Given the description of an element on the screen output the (x, y) to click on. 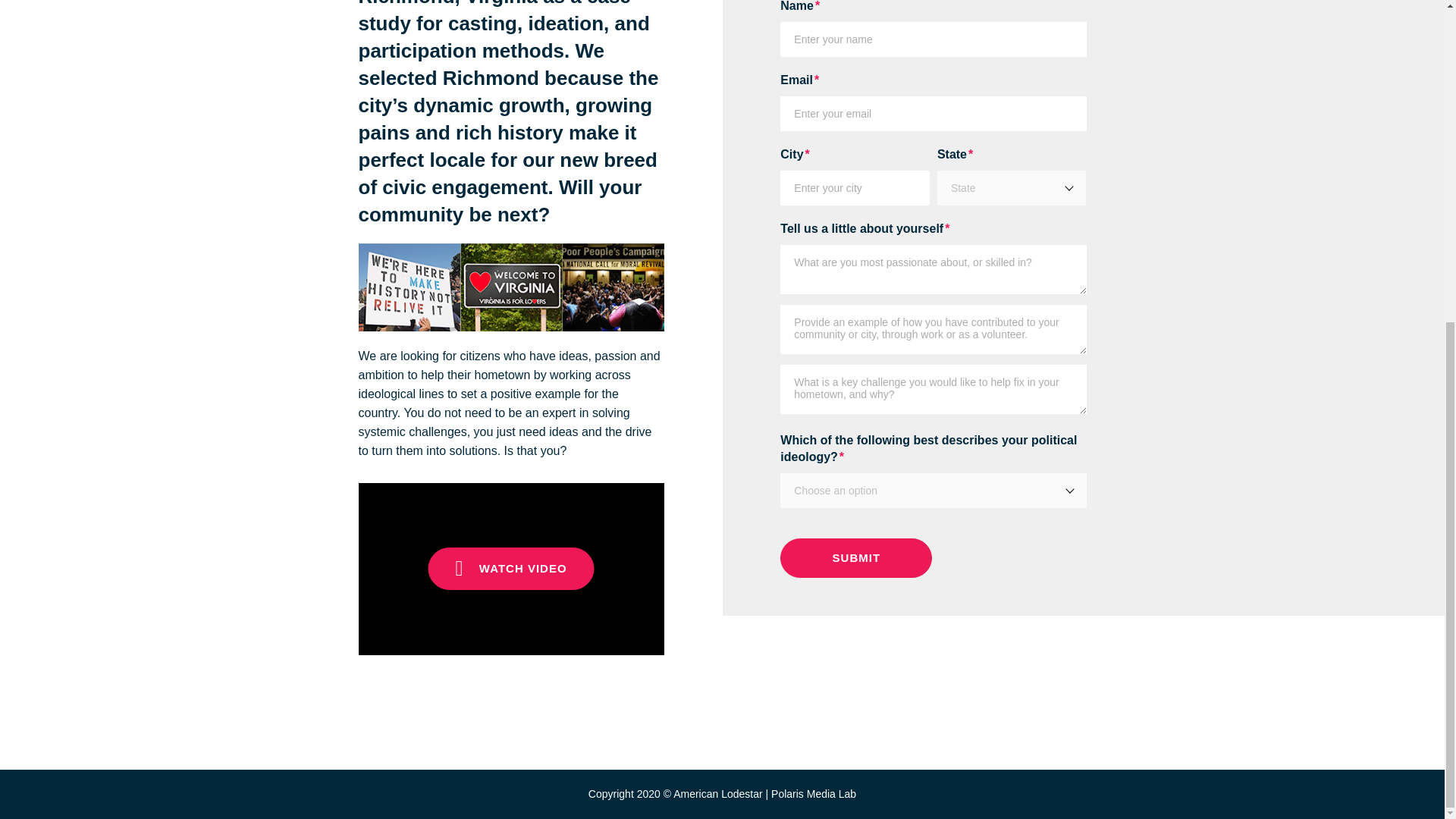
Submit (855, 558)
Polaris Media Lab (813, 793)
Submit (855, 558)
